Given the description of an element on the screen output the (x, y) to click on. 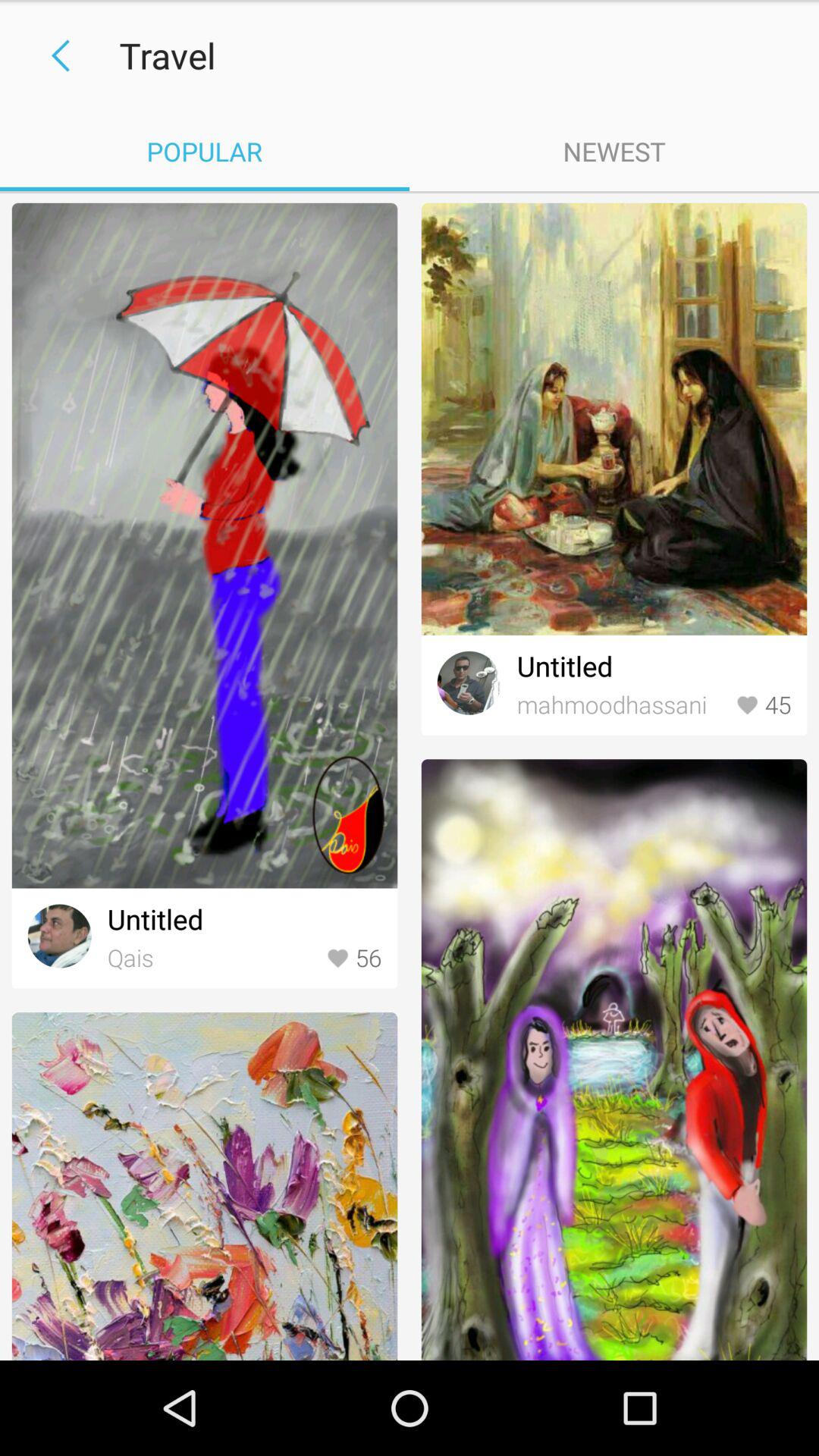
turn off the 45 (762, 705)
